Given the description of an element on the screen output the (x, y) to click on. 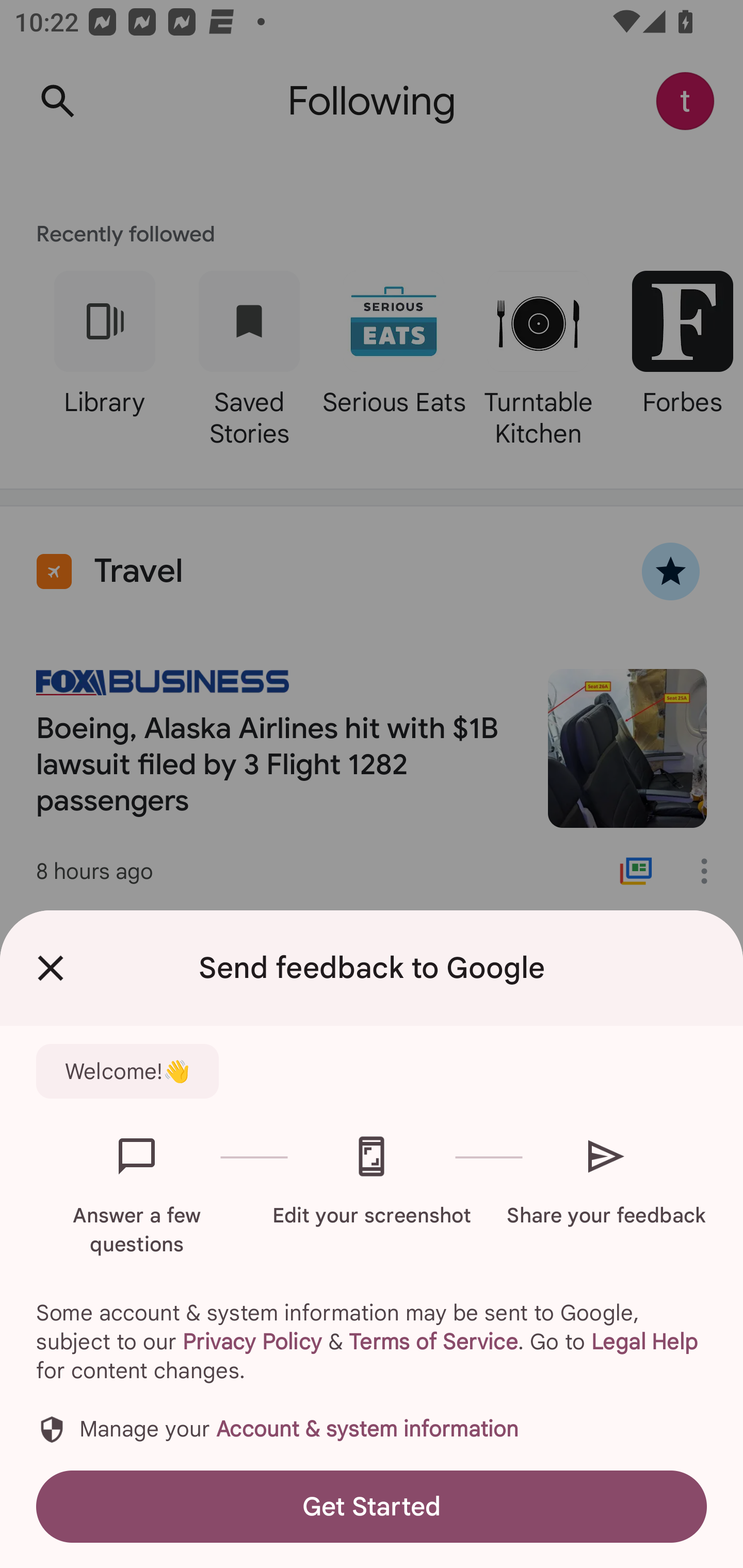
Close Feedback (50, 968)
Get Started (371, 1505)
